Given the description of an element on the screen output the (x, y) to click on. 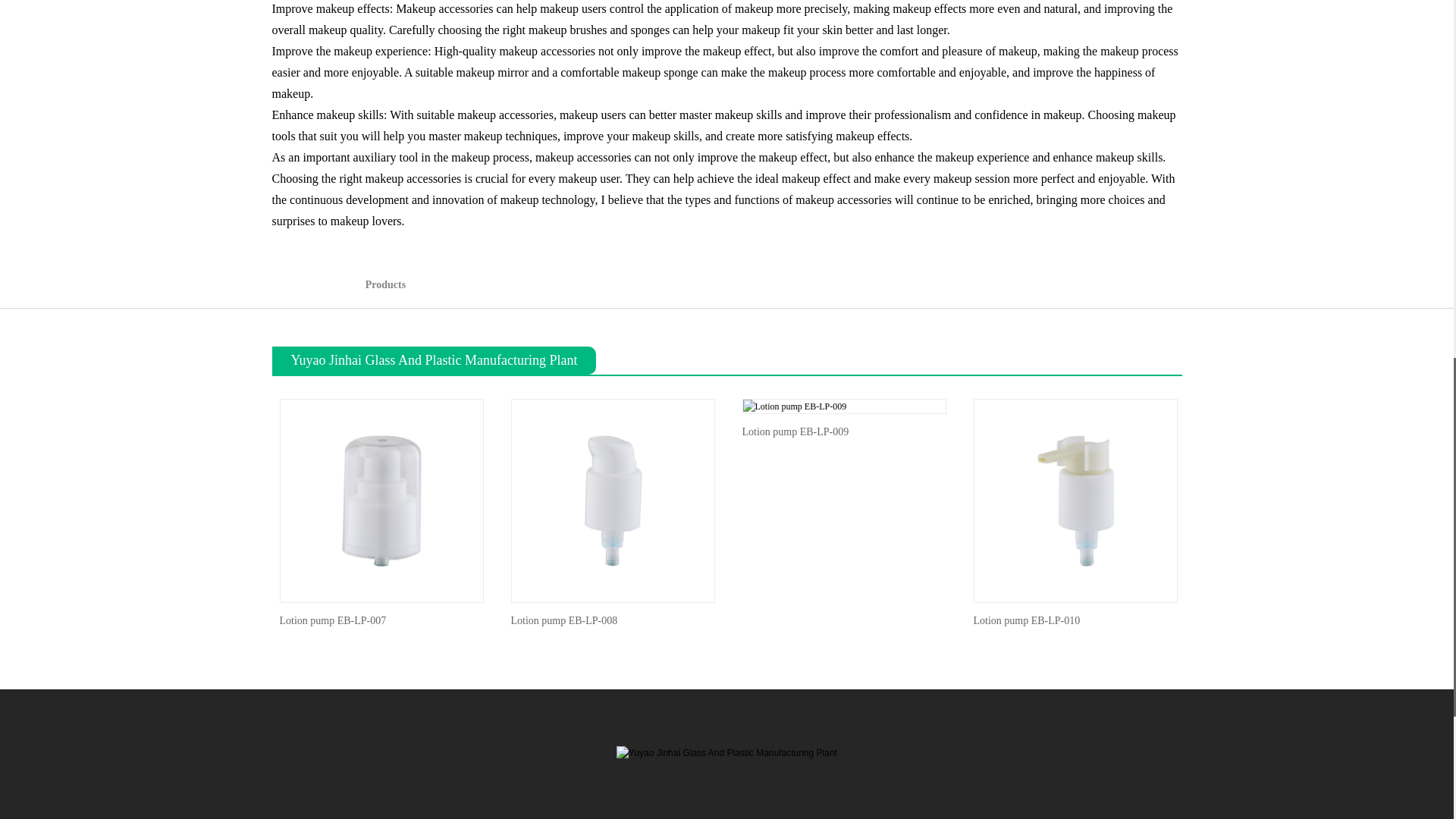
Lotion pump EB-LP-010 (1075, 500)
Lotion pump EB-LP-007 (382, 500)
Lotion pump EB-LP-008 (612, 500)
Lotion pump EB-LP-009 (794, 406)
Yuyao Jinhai Glass And Plastic Manufacturing Plant (726, 753)
